Given the description of an element on the screen output the (x, y) to click on. 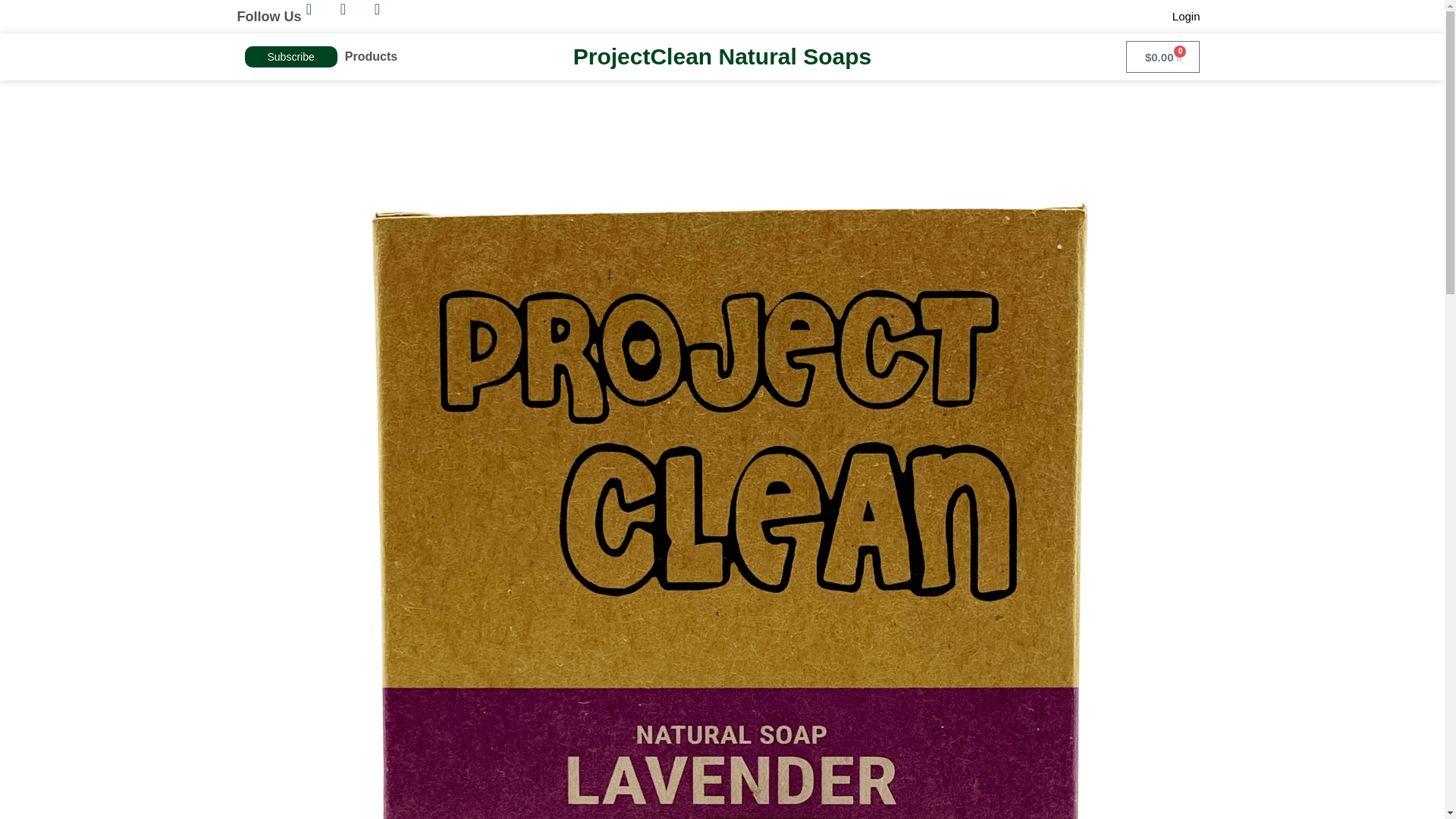
Subscribe (290, 56)
Products (371, 56)
ProjectClean Natural Soaps (721, 56)
Login (1185, 16)
